Given the description of an element on the screen output the (x, y) to click on. 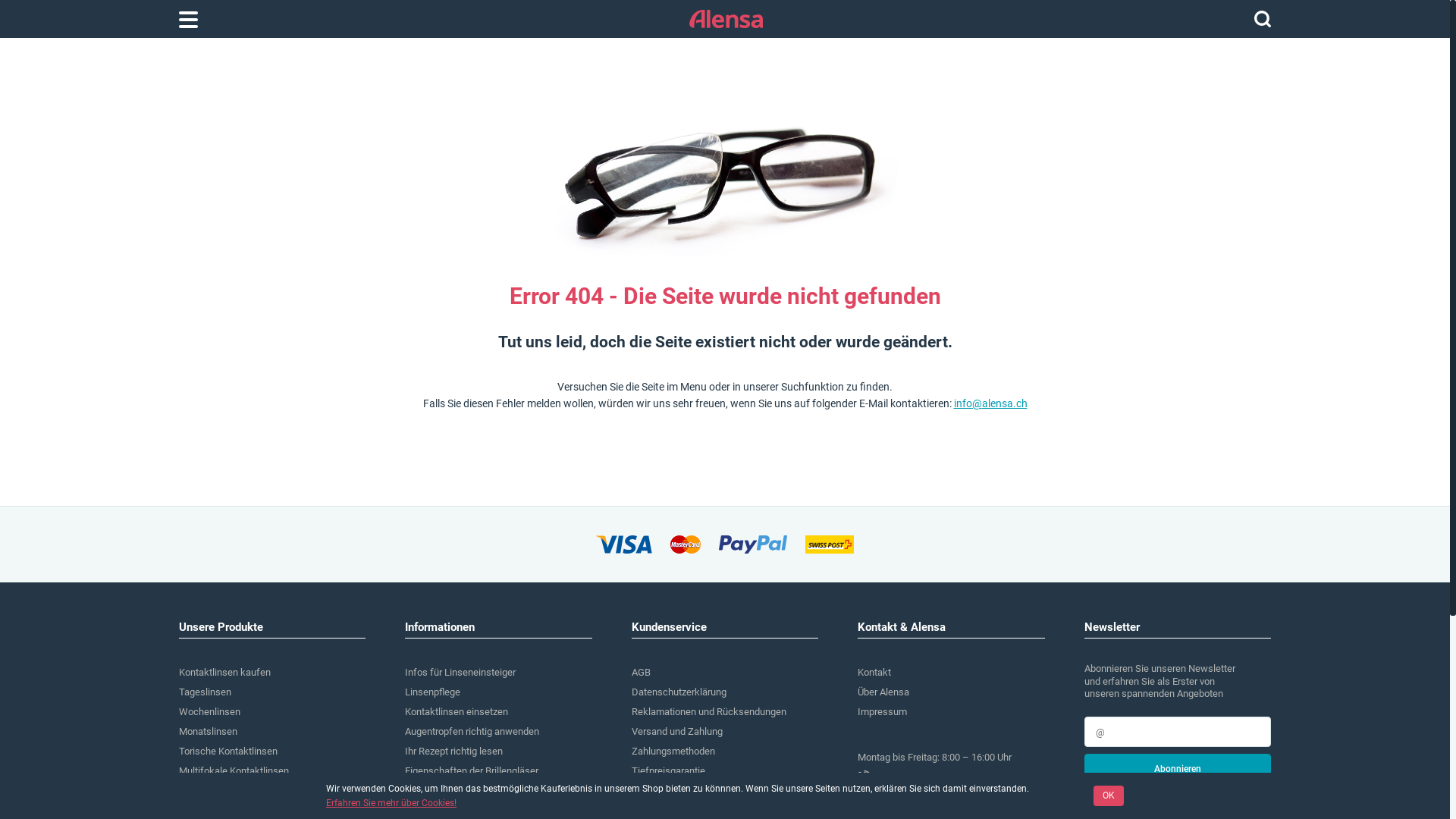
Kontaktlinsen kaufen Element type: text (224, 671)
Farblinsen Element type: text (200, 790)
Zahlungsmethoden Element type: text (673, 750)
Polarisierte Sonnenbrillen Element type: text (459, 809)
Tageslinsen Element type: text (204, 691)
info@alensa.ch Element type: text (950, 796)
AGB Element type: text (640, 671)
Nein danke, ich will kein Geld sparen. Element type: text (1163, 796)
Ihr Rezept richtig lesen Element type: text (453, 750)
Impressum Element type: text (881, 711)
Suchen Element type: hover (1262, 18)
Torische Kontaktlinsen Element type: text (227, 750)
Kontaktlinsen einsetzen Element type: text (456, 711)
Abonnieren Element type: text (1177, 768)
Multifokale Kontaktlinsen Element type: text (233, 770)
FAQ zu Ihrer Bestellung Element type: text (681, 790)
Wochenlinsen Element type: text (209, 711)
OK Element type: text (1108, 795)
Versand und Zahlung Element type: text (676, 731)
Linsenpflege Element type: text (432, 691)
Tiefpreisgarantie Element type: text (668, 770)
Kontakt Element type: text (874, 671)
Augentropfen richtig anwenden Element type: text (471, 731)
+41 225 017 989 Element type: text (950, 777)
Monatslinsen Element type: text (207, 731)
Pflegemittel Element type: text (204, 809)
info@alensa.ch Element type: text (990, 403)
Weitere Informationen Element type: text (679, 809)
